Given the description of an element on the screen output the (x, y) to click on. 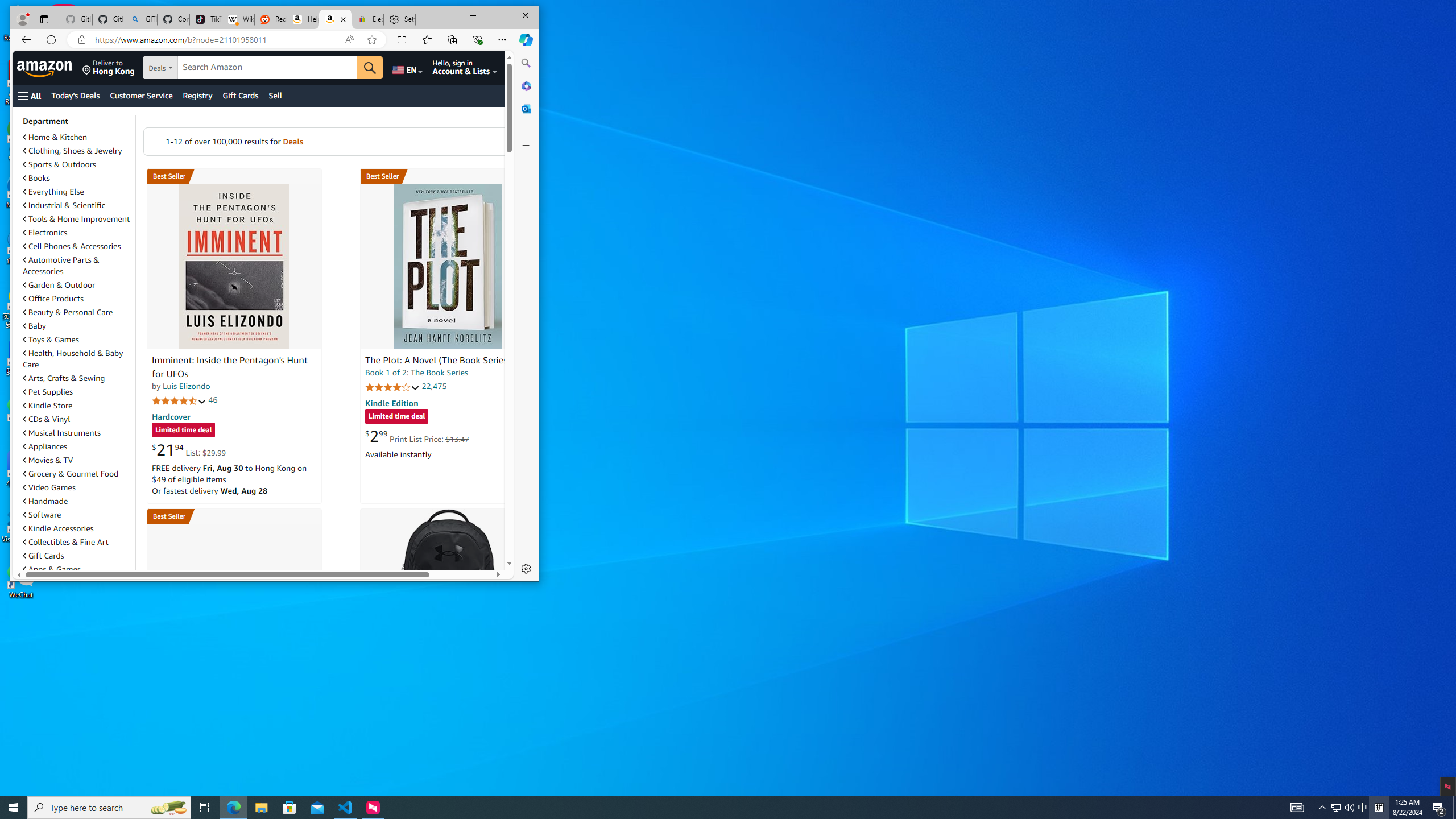
Hello, sign in Account & Lists (464, 67)
Microsoft Store (289, 807)
Clothing, Shoes & Jewelry (77, 150)
$21.94 List: $29.99 (188, 449)
Beauty & Personal Care (68, 312)
CDs & Vinyl (46, 419)
Returns & Orders (524, 67)
Baby (77, 325)
Tools & Home Improvement (76, 218)
Choose a language for shopping. (406, 67)
